Given the description of an element on the screen output the (x, y) to click on. 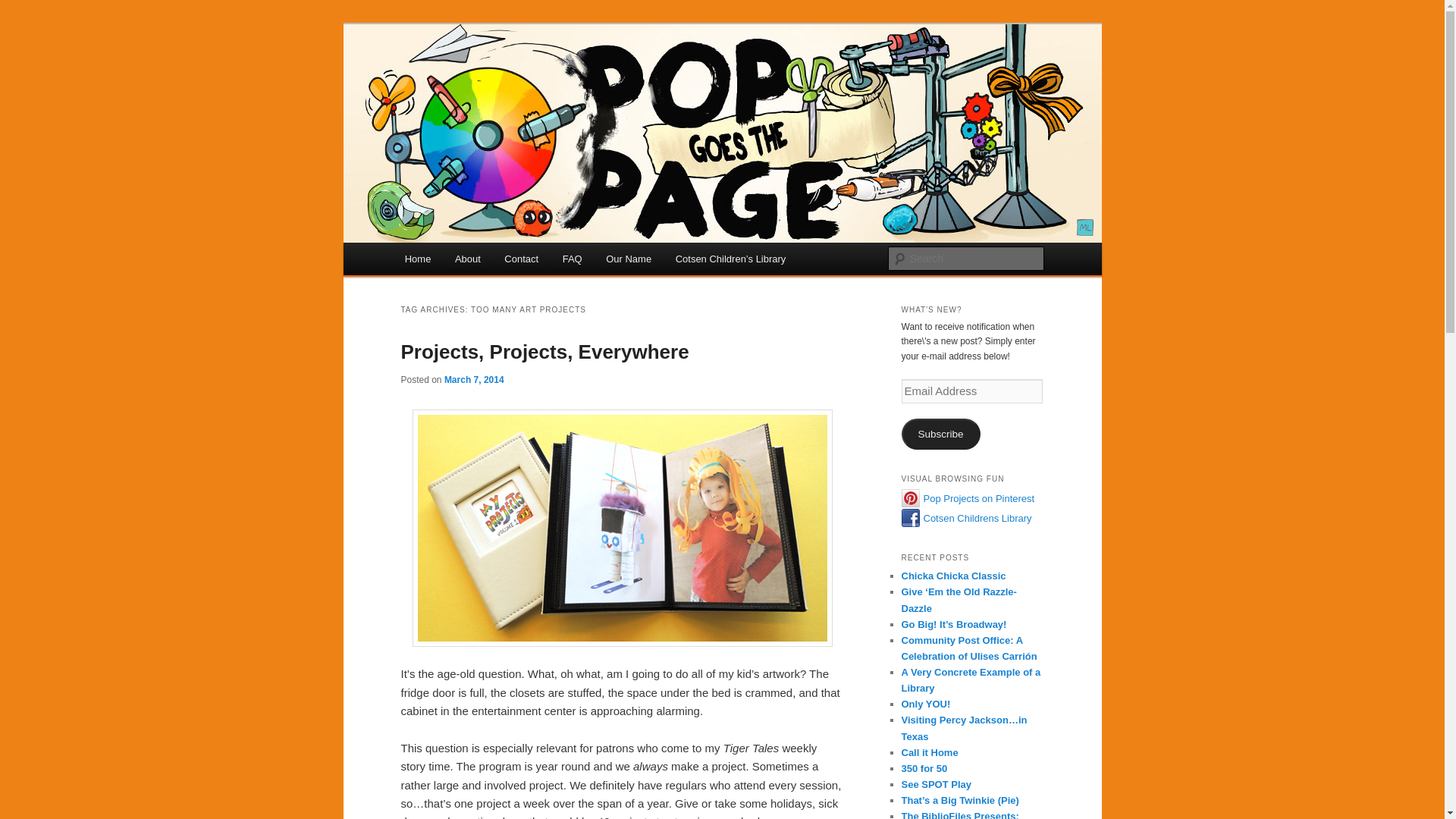
March 7, 2014 (473, 379)
10:02 am (473, 379)
Pop Goes the Page (503, 78)
Chicka Chicka Classic (953, 575)
Pop Projects on Pinterest (979, 498)
Projects, Projects, Everywhere (544, 351)
Home (417, 258)
Contact (521, 258)
Our Name (628, 258)
About (467, 258)
Pop Goes the Page (503, 78)
Pop Projects on Pinterest (979, 498)
Search (24, 8)
